Given the description of an element on the screen output the (x, y) to click on. 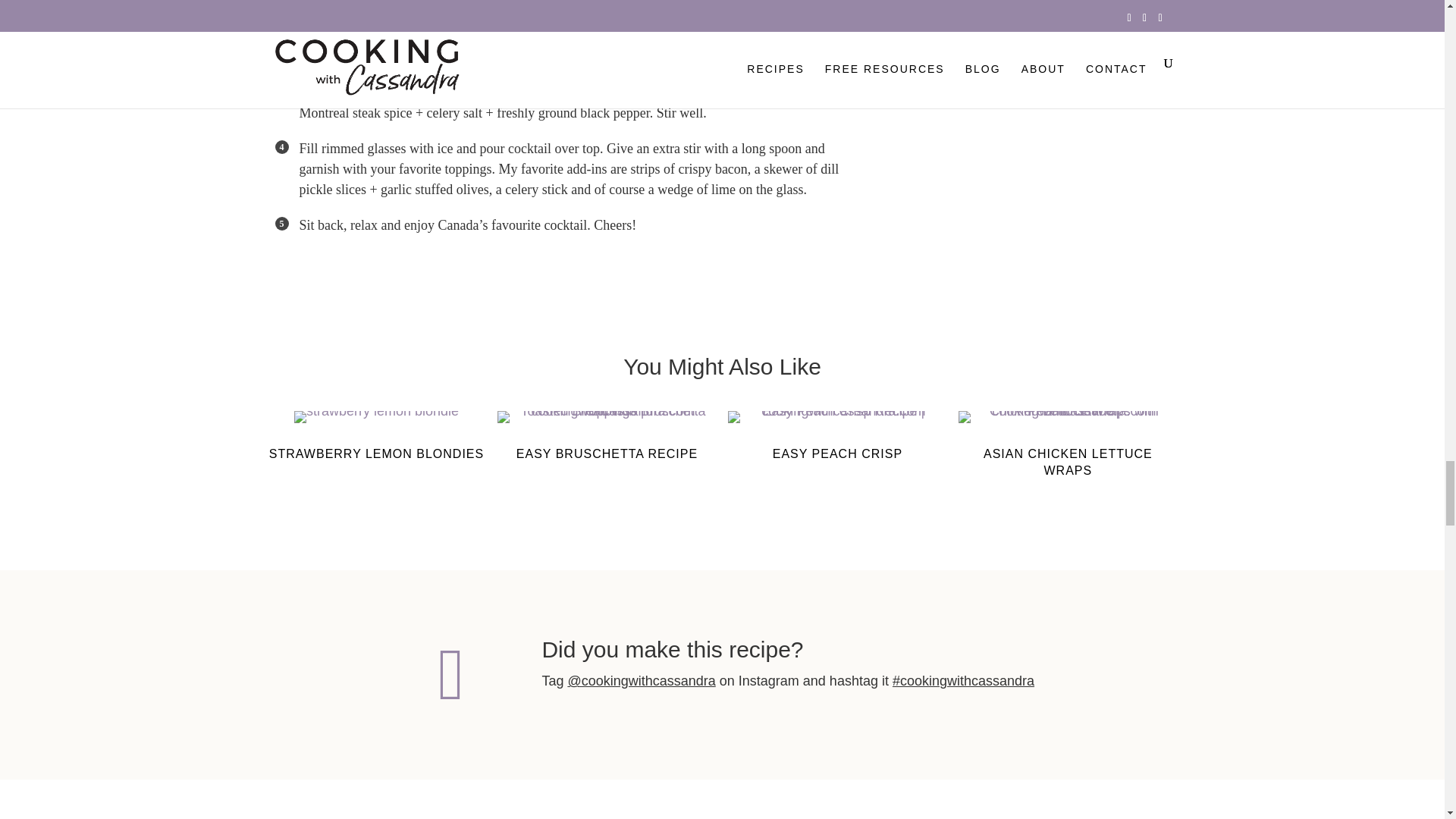
ASIAN CHICKEN LETTUCE WRAPS (1068, 461)
EASY BRUSCHETTA RECIPE (606, 453)
EASY PEACH CRISP (837, 453)
STRAWBERRY LEMON BLONDIES (376, 453)
